Given the description of an element on the screen output the (x, y) to click on. 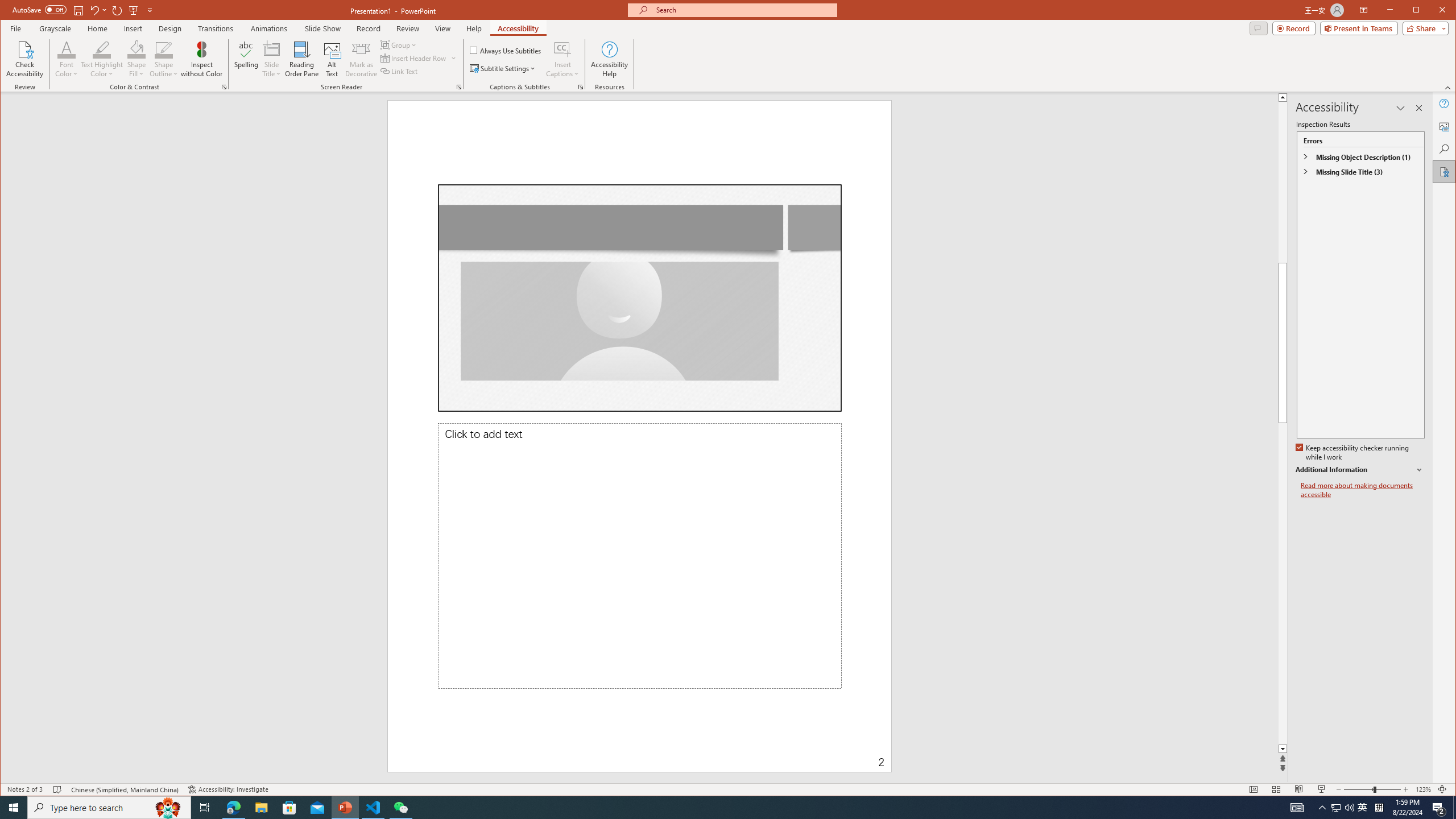
Captions & Subtitles (580, 86)
Color & Contrast (223, 86)
